Given the description of an element on the screen output the (x, y) to click on. 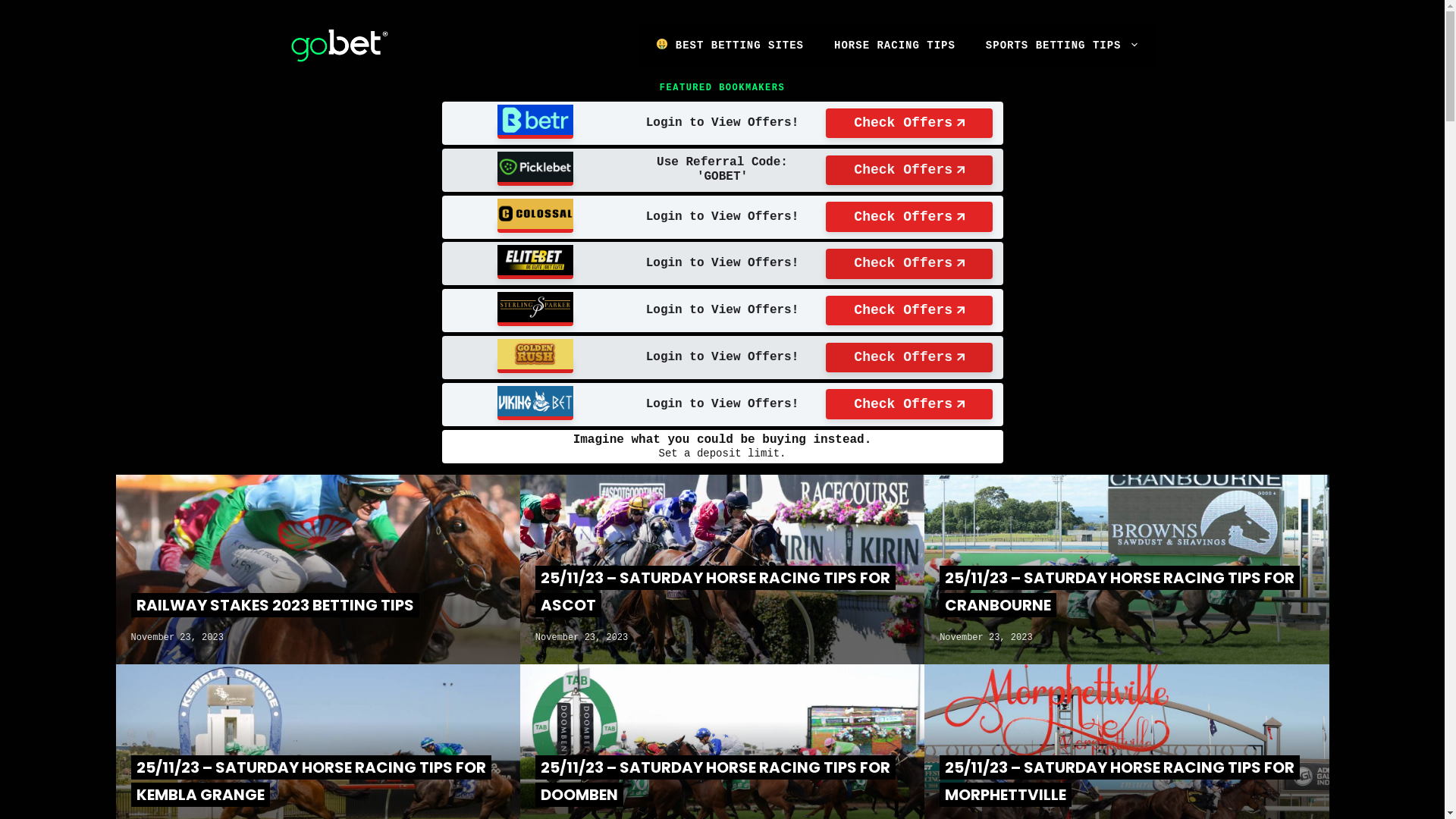
SPORTS BETTING TIPS Element type: text (1062, 45)
BEST BETTING SITES Element type: text (729, 45)
Check Offers Element type: text (908, 310)
Check Offers Element type: text (908, 263)
Check Offers Element type: text (908, 169)
HORSE RACING TIPS Element type: text (894, 45)
RAILWAY STAKES 2023 BETTING TIPS Element type: text (274, 605)
Check Offers Element type: text (908, 357)
Check Offers Element type: text (908, 123)
Check Offers Element type: text (908, 404)
Check Offers Element type: text (908, 216)
